Given the description of an element on the screen output the (x, y) to click on. 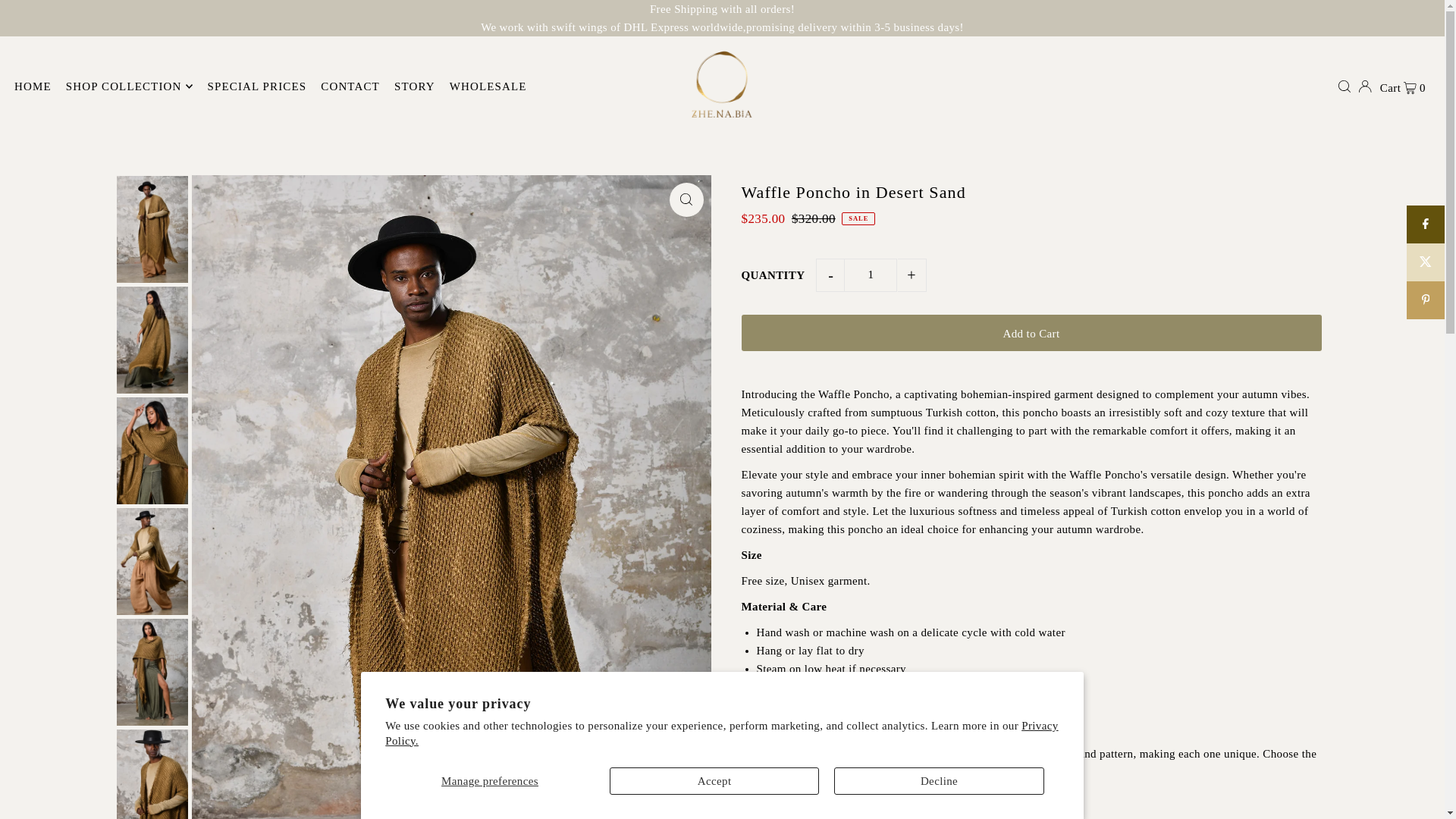
Click to zoom (685, 199)
Add to Cart (1031, 332)
Privacy Policy. (721, 732)
1 (870, 274)
Decline (938, 780)
Accept (714, 780)
SHOP COLLECTION (129, 86)
Cart (1402, 85)
HOME (32, 86)
Manage preferences (489, 780)
